Given the description of an element on the screen output the (x, y) to click on. 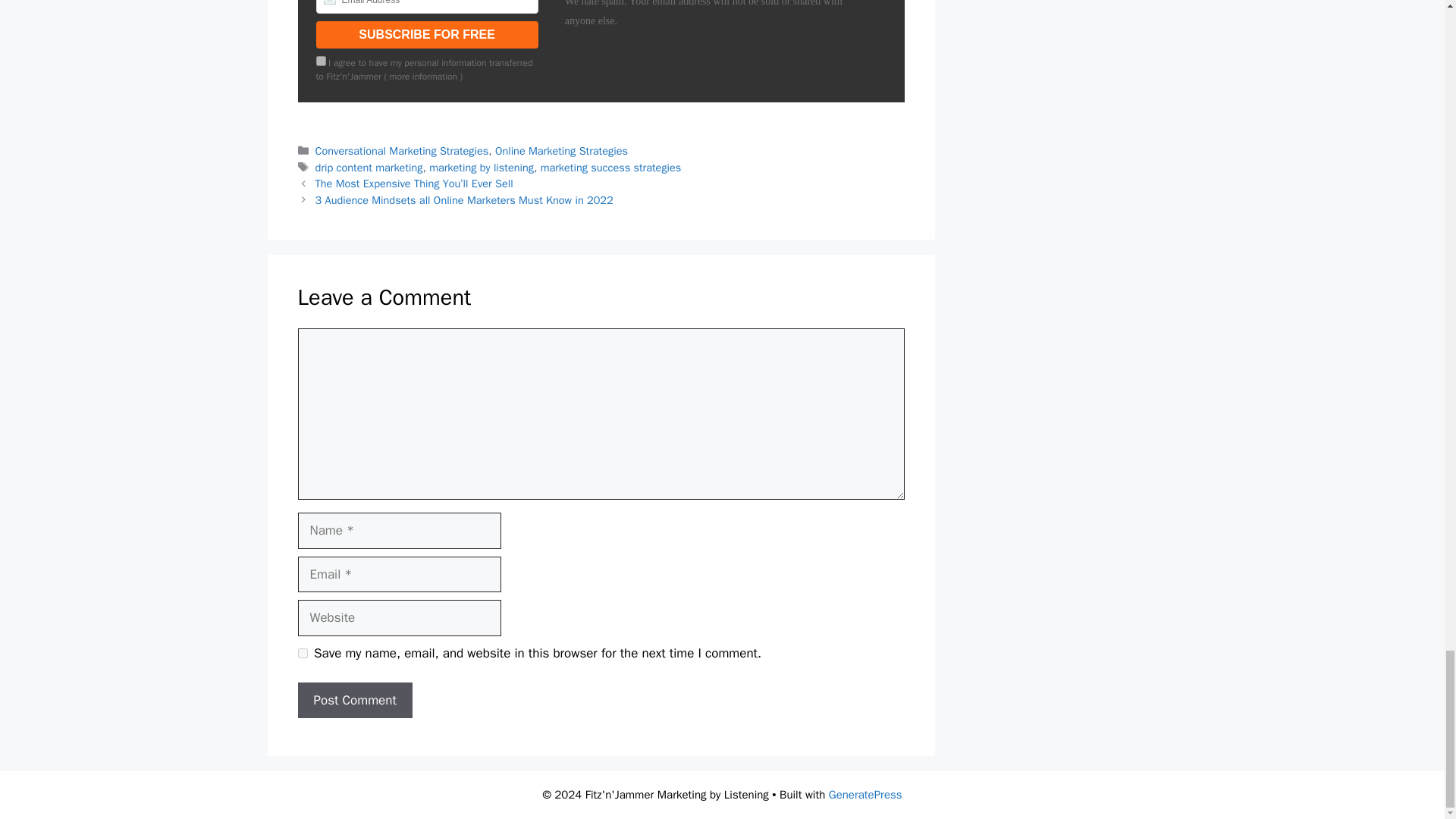
Post Comment (354, 700)
more information (423, 76)
marketing success strategies (610, 167)
yes (302, 653)
SUBSCRIBE FOR FREE (426, 34)
marketing by listening (481, 167)
SUBSCRIBE FOR FREE (426, 34)
Post Comment (354, 700)
on (319, 61)
Conversational Marketing Strategies (402, 151)
3 Audience Mindsets all Online Marketers Must Know in 2022 (463, 200)
Online Marketing Strategies (561, 151)
drip content marketing (369, 167)
